Given the description of an element on the screen output the (x, y) to click on. 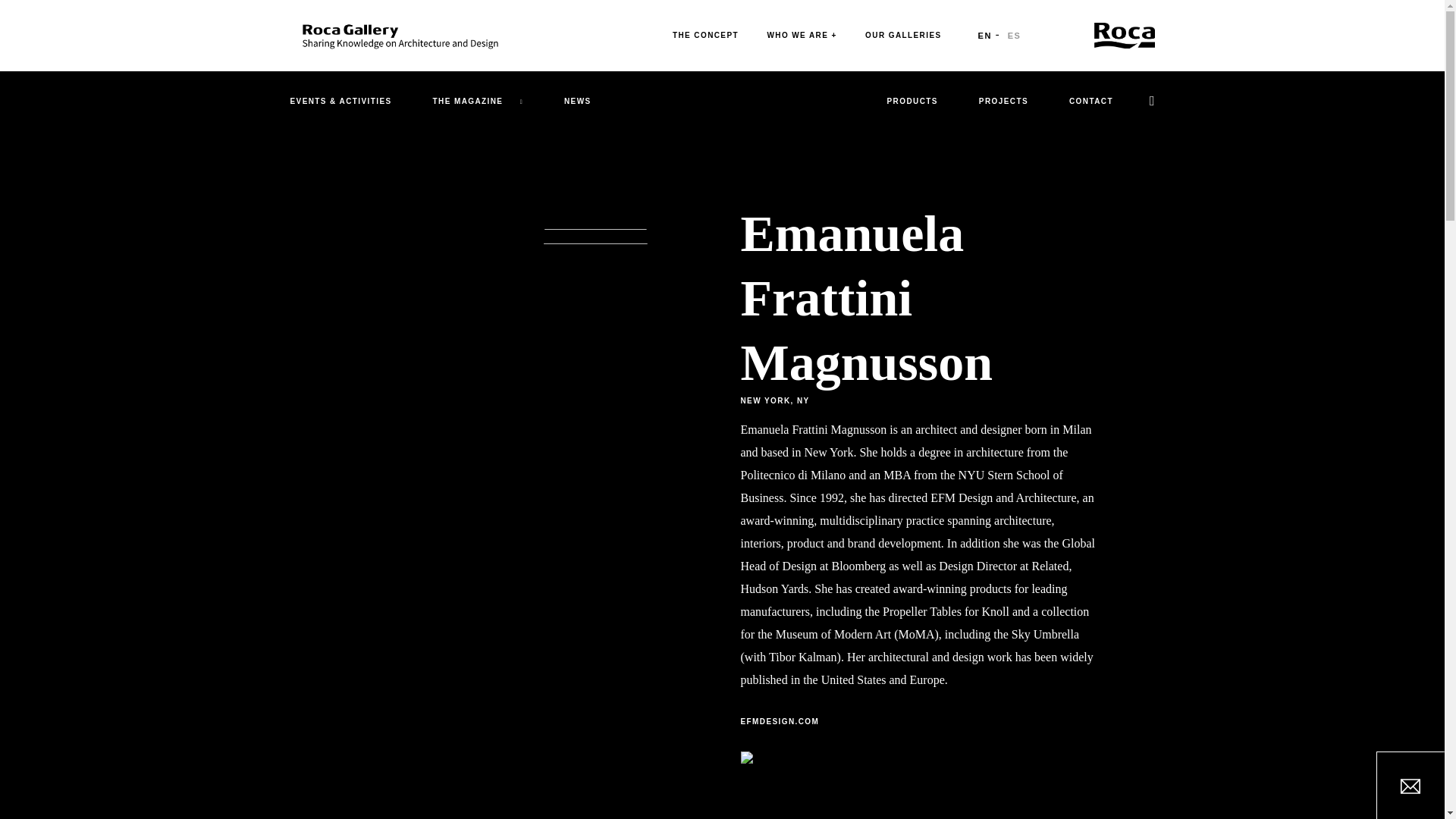
THE CONCEPT (705, 35)
THE MAGAZINE (477, 101)
ES (1014, 35)
EN (984, 35)
OUR GALLERIES (902, 35)
